Given the description of an element on the screen output the (x, y) to click on. 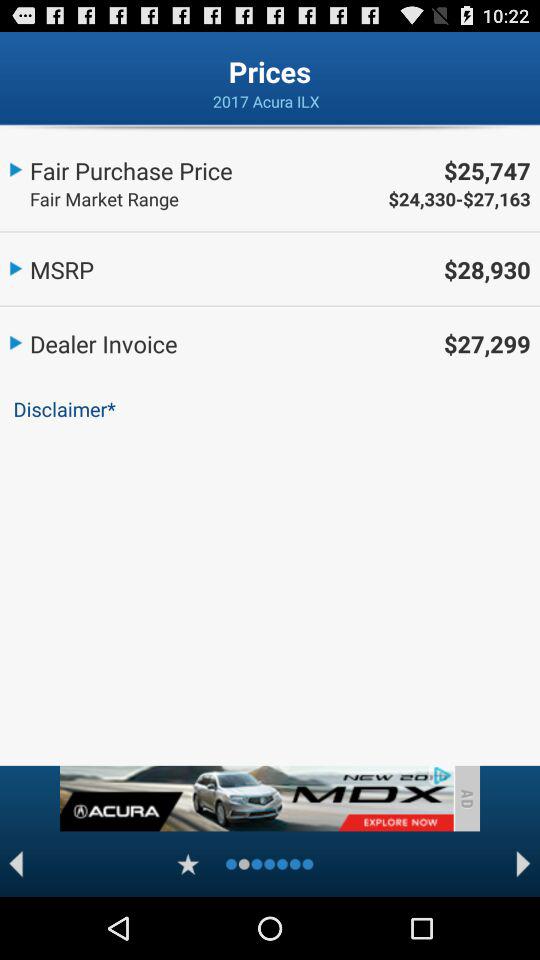
go back (16, 864)
